Given the description of an element on the screen output the (x, y) to click on. 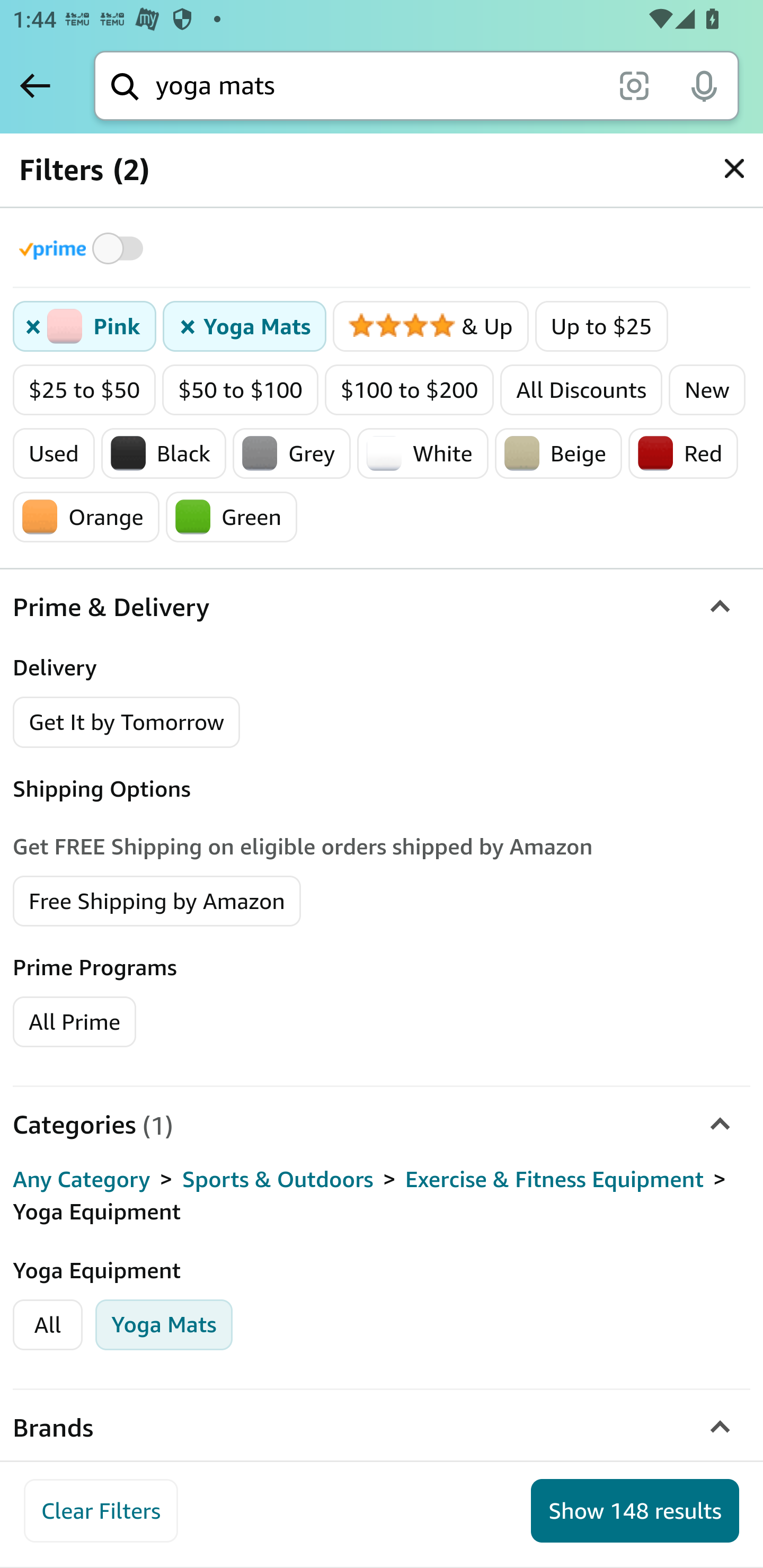
Back (35, 85)
scan it (633, 85)
Toggle to filter by Prime products Prime Eligible (83, 247)
× Pink Pink × Pink Pink (84, 326)
× Yoga Mats × Yoga Mats (244, 326)
4 Stars & Up (430, 326)
Up to $25 (601, 326)
$25 to $50 (84, 390)
$50 to $100 (240, 390)
$100 to $200 (409, 390)
All Discounts (581, 390)
New (706, 390)
Used (53, 453)
Black Black Black Black (163, 453)
Grey Grey Grey Grey (290, 453)
White White White White (422, 453)
Beige Beige Beige Beige (558, 453)
Red Red Red Red (683, 453)
Orange Orange Orange Orange (86, 517)
Green Green Green Green (232, 517)
Prime & Delivery (381, 607)
Get It by Tomorrow (126, 721)
Free Shipping by Amazon (157, 899)
All Prime (74, 1020)
Categories (1) (381, 1124)
Any Category (81, 1179)
Sports & Outdoors (277, 1179)
Exercise & Fitness Equipment (553, 1179)
All (47, 1324)
Brands (381, 1427)
Clear Filters (100, 1510)
Show 148 results (635, 1510)
